Given the description of an element on the screen output the (x, y) to click on. 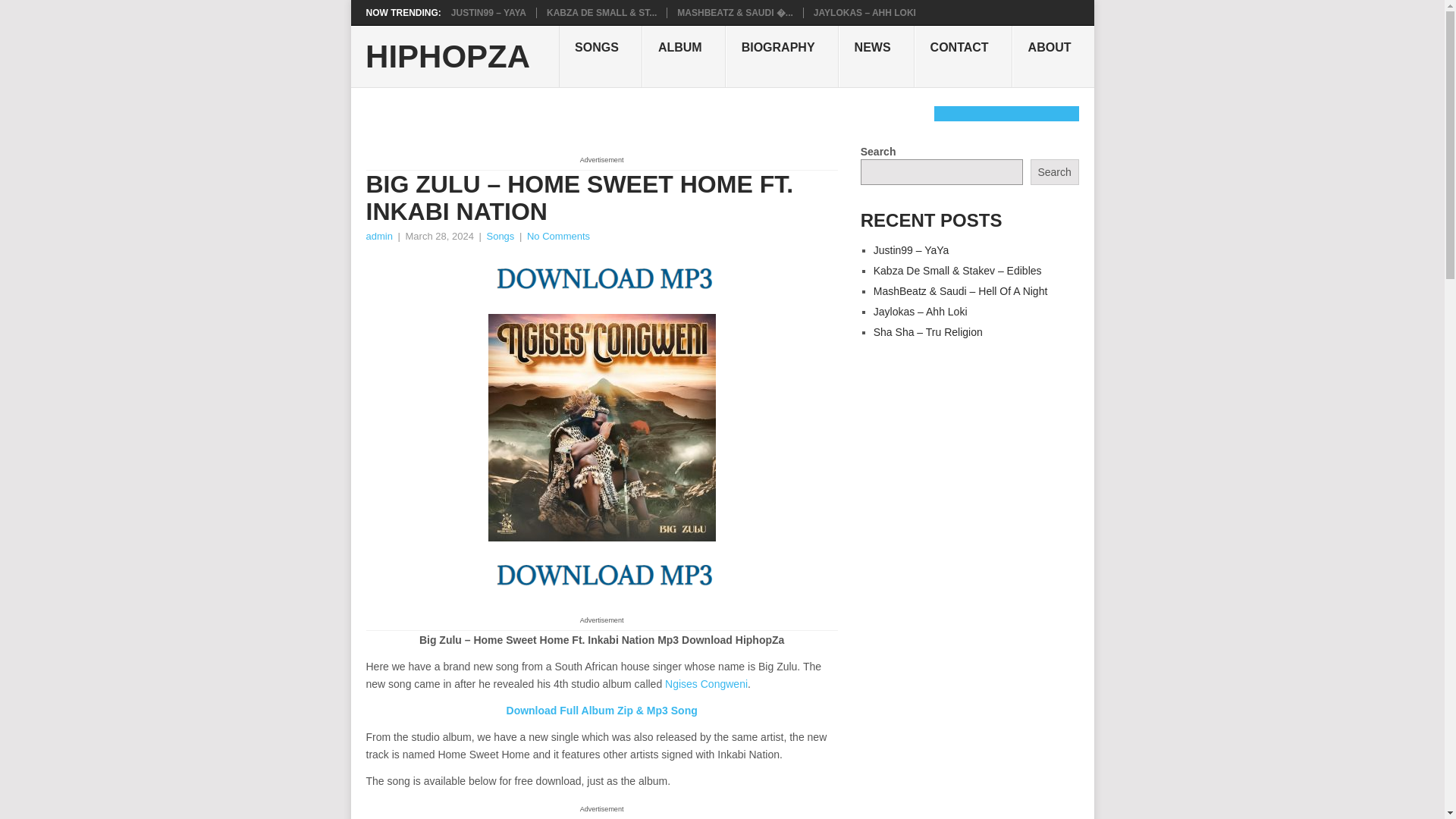
ALBUM (683, 56)
SONGS (600, 56)
ABOUT (1052, 56)
No Comments (558, 235)
Posts by admin (378, 235)
NEWS (876, 56)
BIOGRAPHY (781, 56)
CONTACT (962, 56)
admin (378, 235)
Ngises Congweni (706, 684)
Songs (499, 235)
HIPHOPZA (447, 56)
Search (1054, 171)
